Given the description of an element on the screen output the (x, y) to click on. 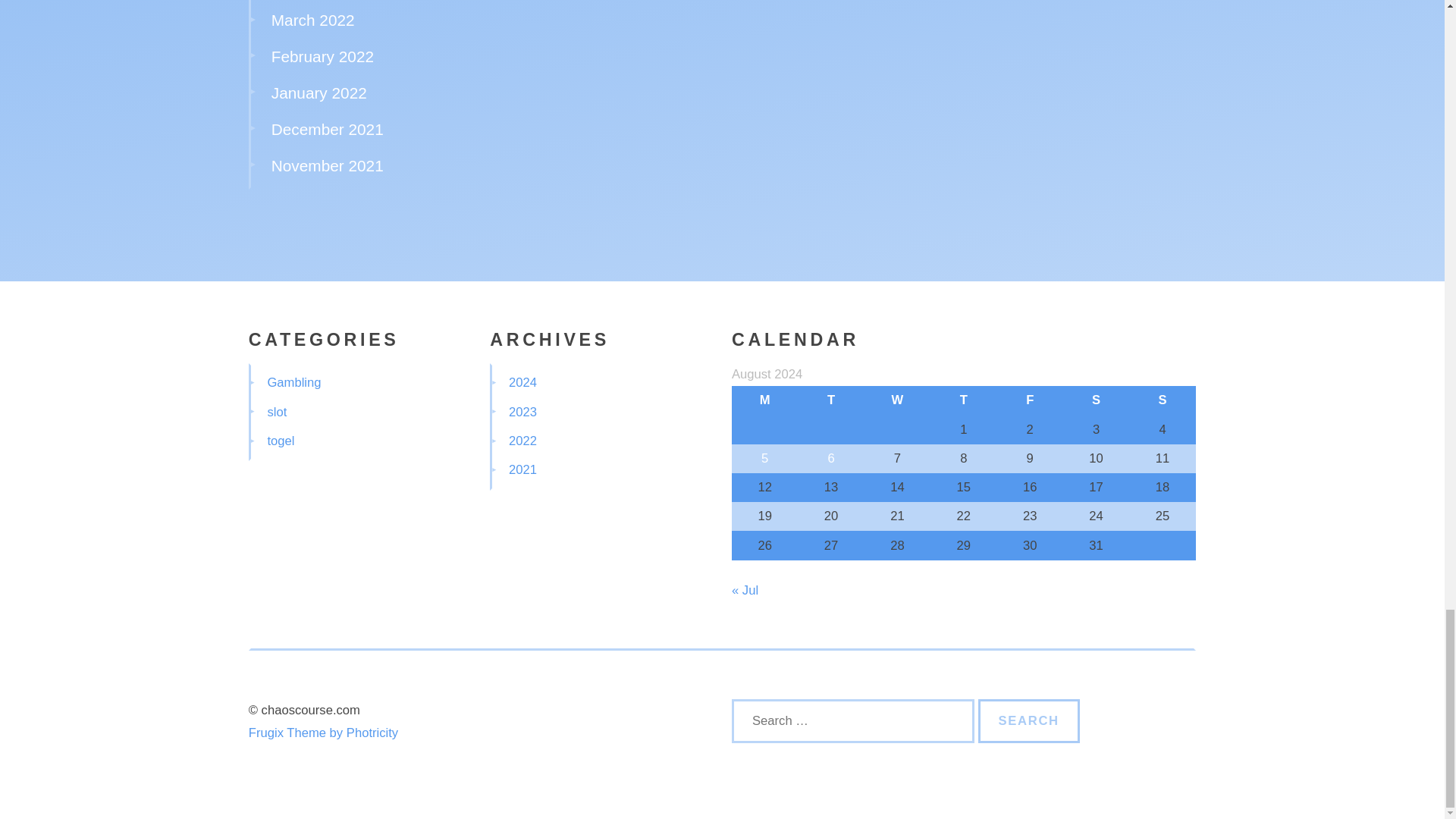
Friday (1029, 399)
Wednesday (897, 399)
Sunday (1162, 399)
Search (1029, 720)
Saturday (1095, 399)
Monday (764, 399)
Search (1029, 720)
Tuesday (830, 399)
Thursday (962, 399)
